Given the description of an element on the screen output the (x, y) to click on. 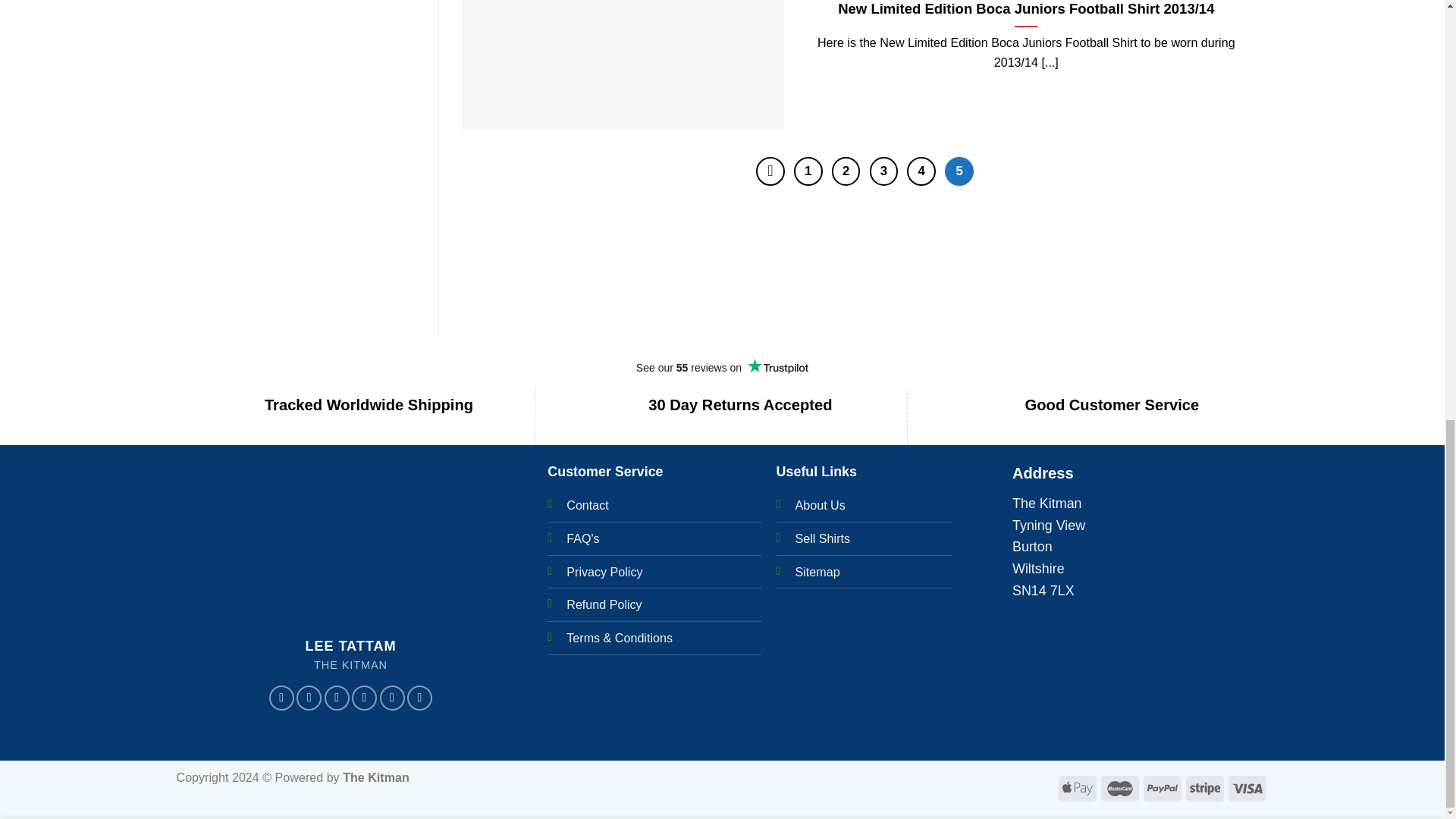
Call us (391, 697)
Follow on LinkedIn (419, 697)
Follow on Facebook (281, 697)
Send us an email (364, 697)
Follow on Twitter (336, 697)
Follow on Instagram (309, 697)
